Given the description of an element on the screen output the (x, y) to click on. 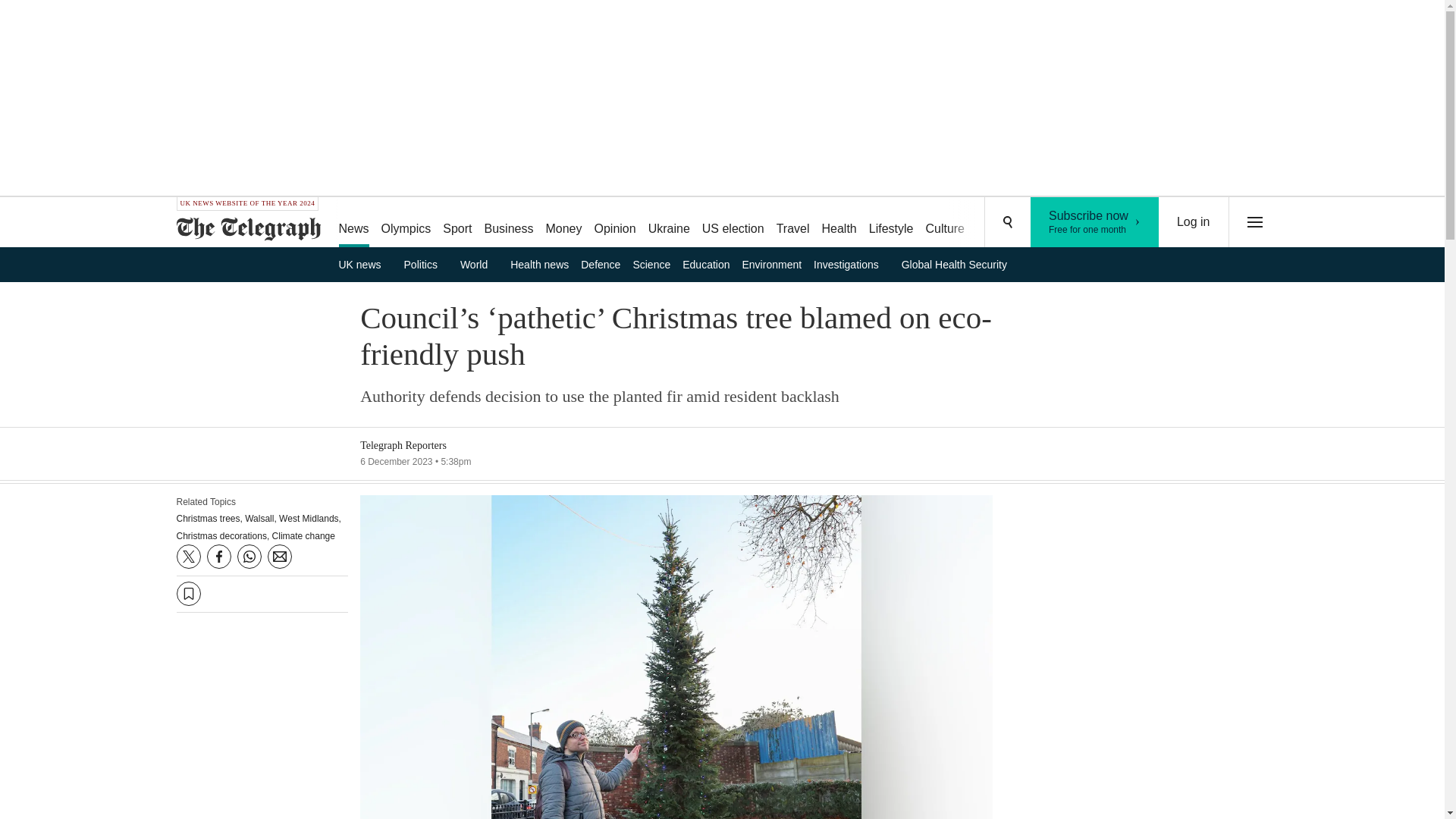
Opinion (615, 223)
Business (509, 223)
Culture (944, 223)
Politics (425, 264)
UK news (1094, 222)
Puzzles (364, 264)
Log in (998, 223)
Travel (1193, 222)
World (792, 223)
Health (478, 264)
Ukraine (838, 223)
Lifestyle (668, 223)
Podcasts (891, 223)
Olympics (1056, 223)
